Given the description of an element on the screen output the (x, y) to click on. 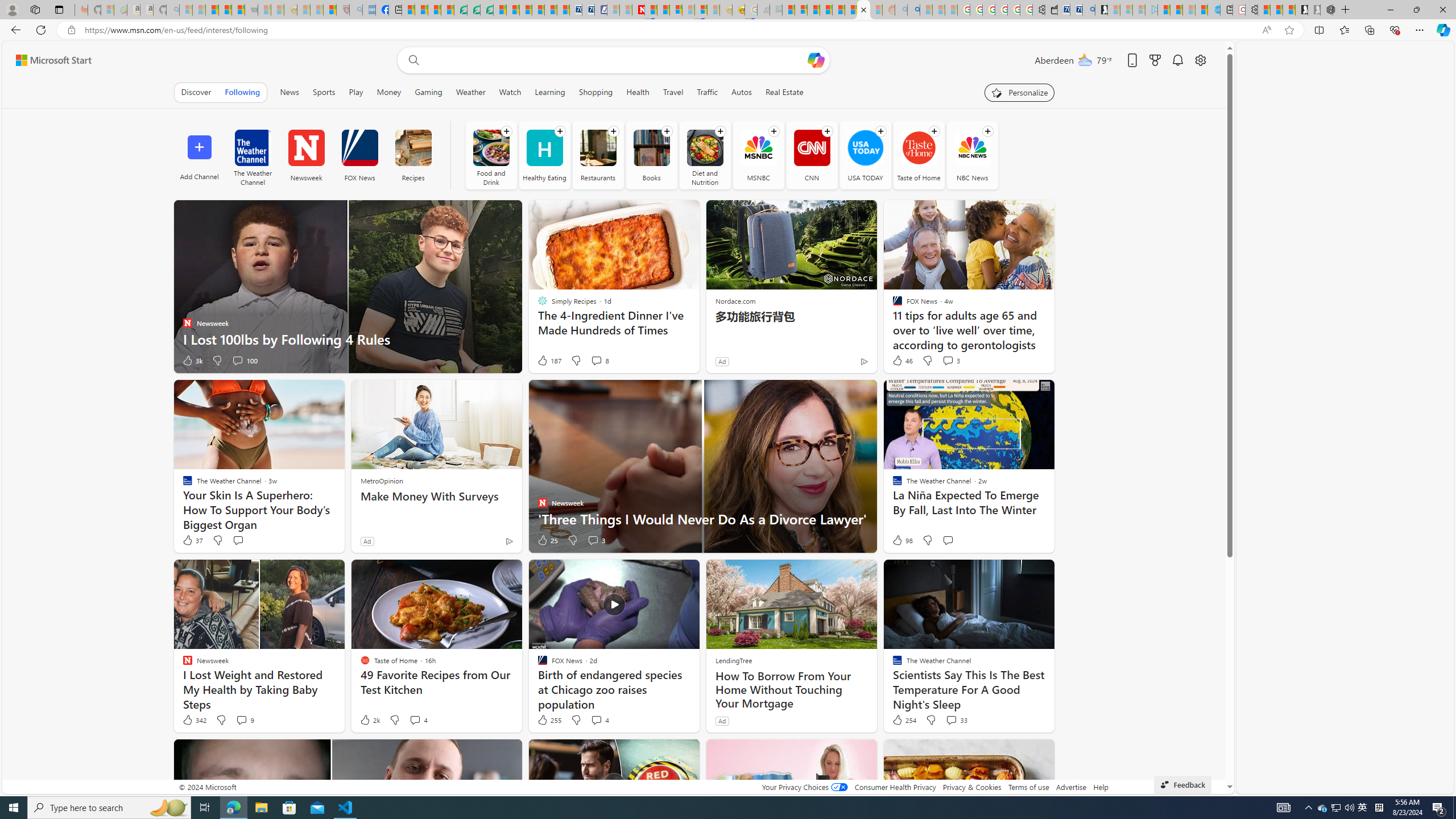
Diet and Nutrition (704, 147)
View comments 3 Comment (596, 539)
Gaming (428, 92)
Follow channel (986, 130)
Learning (549, 92)
View comments 4 Comment (595, 719)
New Report Confirms 2023 Was Record Hot | Watch (237, 9)
Your Privacy Choices (804, 786)
